Given the description of an element on the screen output the (x, y) to click on. 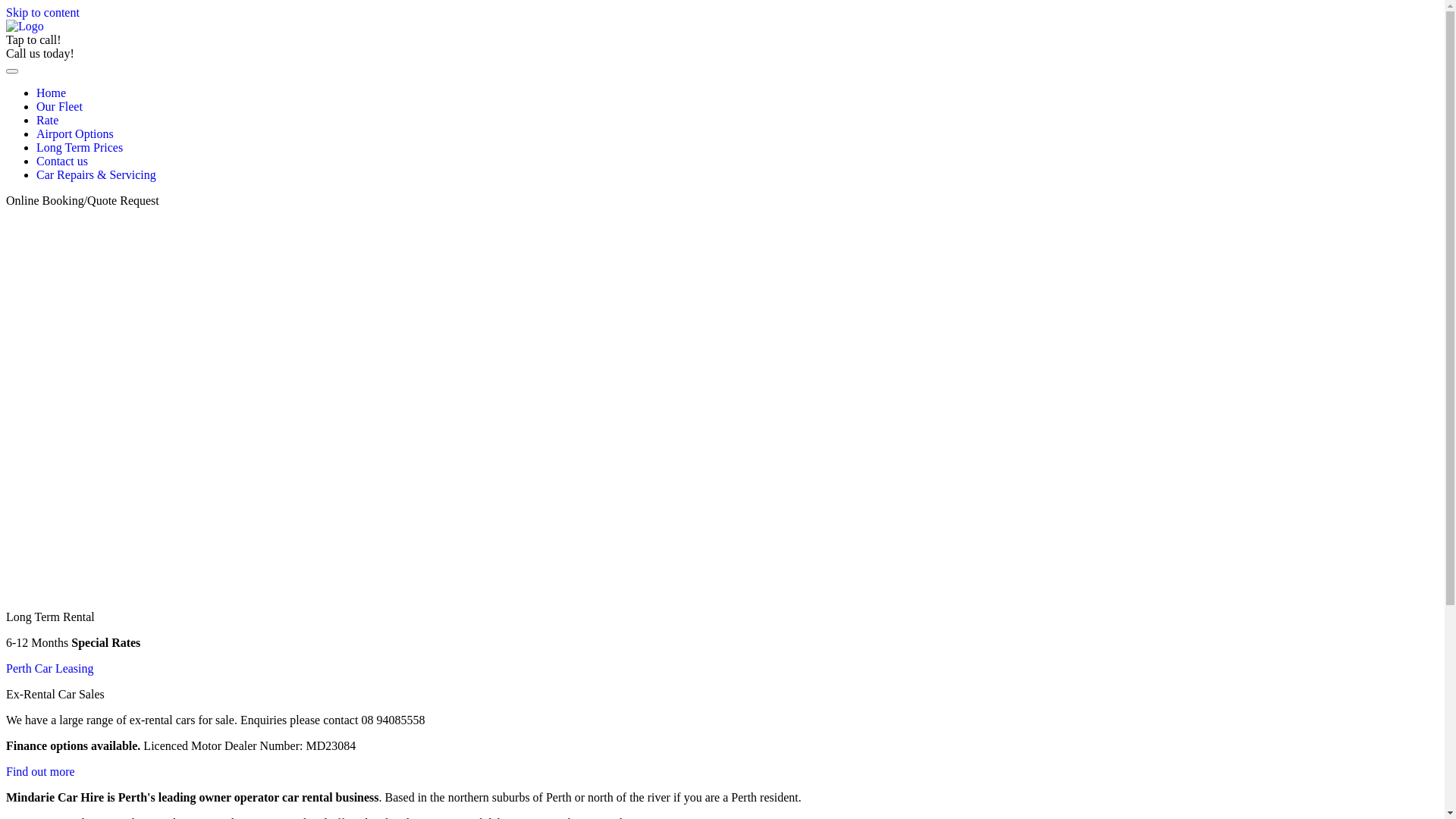
Car Repairs & Servicing Element type: text (96, 174)
Rate Element type: text (47, 119)
Find out more Element type: text (40, 771)
Home Element type: text (50, 92)
08 9408 5558 Element type: text (107, 53)
Our Fleet Element type: text (59, 106)
Perth Car Leasing Element type: text (50, 668)
Airport Options Element type: text (74, 133)
Long Term Prices Element type: text (79, 147)
Skip to content Element type: text (42, 12)
08 9408 5558 Element type: text (94, 39)
Contact us Element type: text (61, 160)
